Given the description of an element on the screen output the (x, y) to click on. 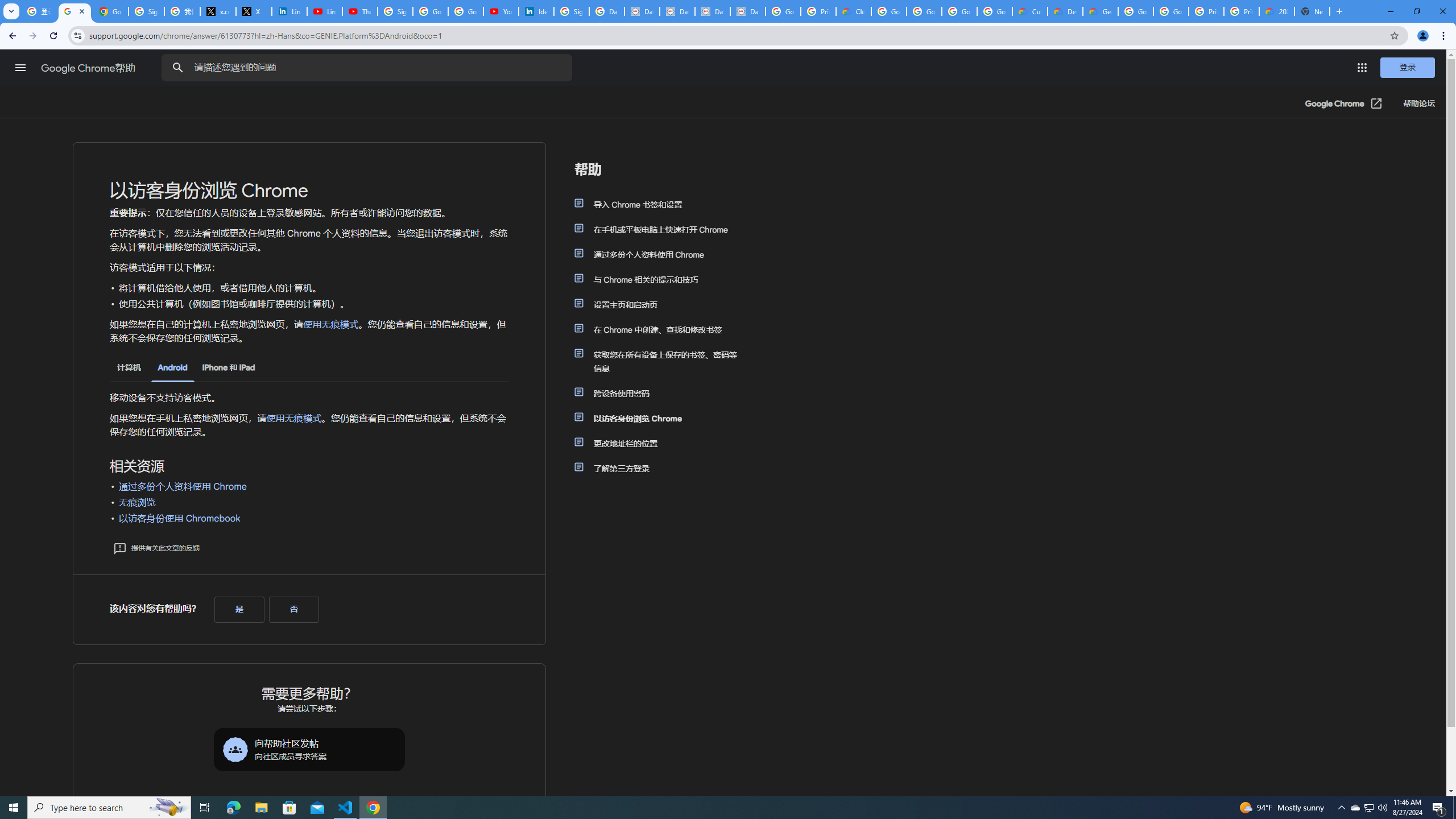
Google Cloud Platform (1135, 11)
LinkedIn Privacy Policy (288, 11)
View site information (77, 35)
Bookmark this tab (1393, 35)
LinkedIn - YouTube (324, 11)
Sign in - Google Accounts (571, 11)
Identity verification via Persona | LinkedIn Help (536, 11)
